Given the description of an element on the screen output the (x, y) to click on. 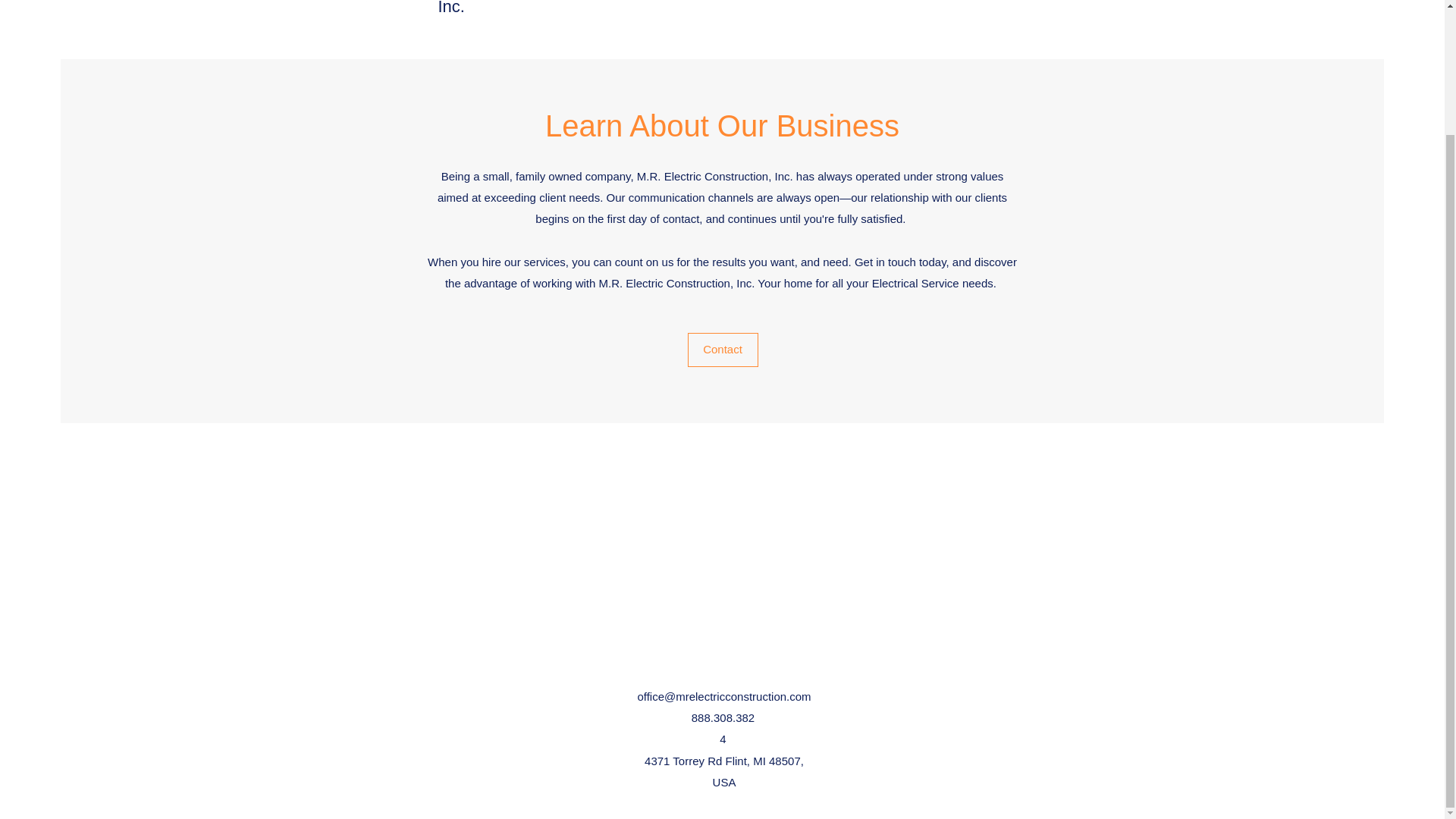
Contact (722, 349)
